Given the description of an element on the screen output the (x, y) to click on. 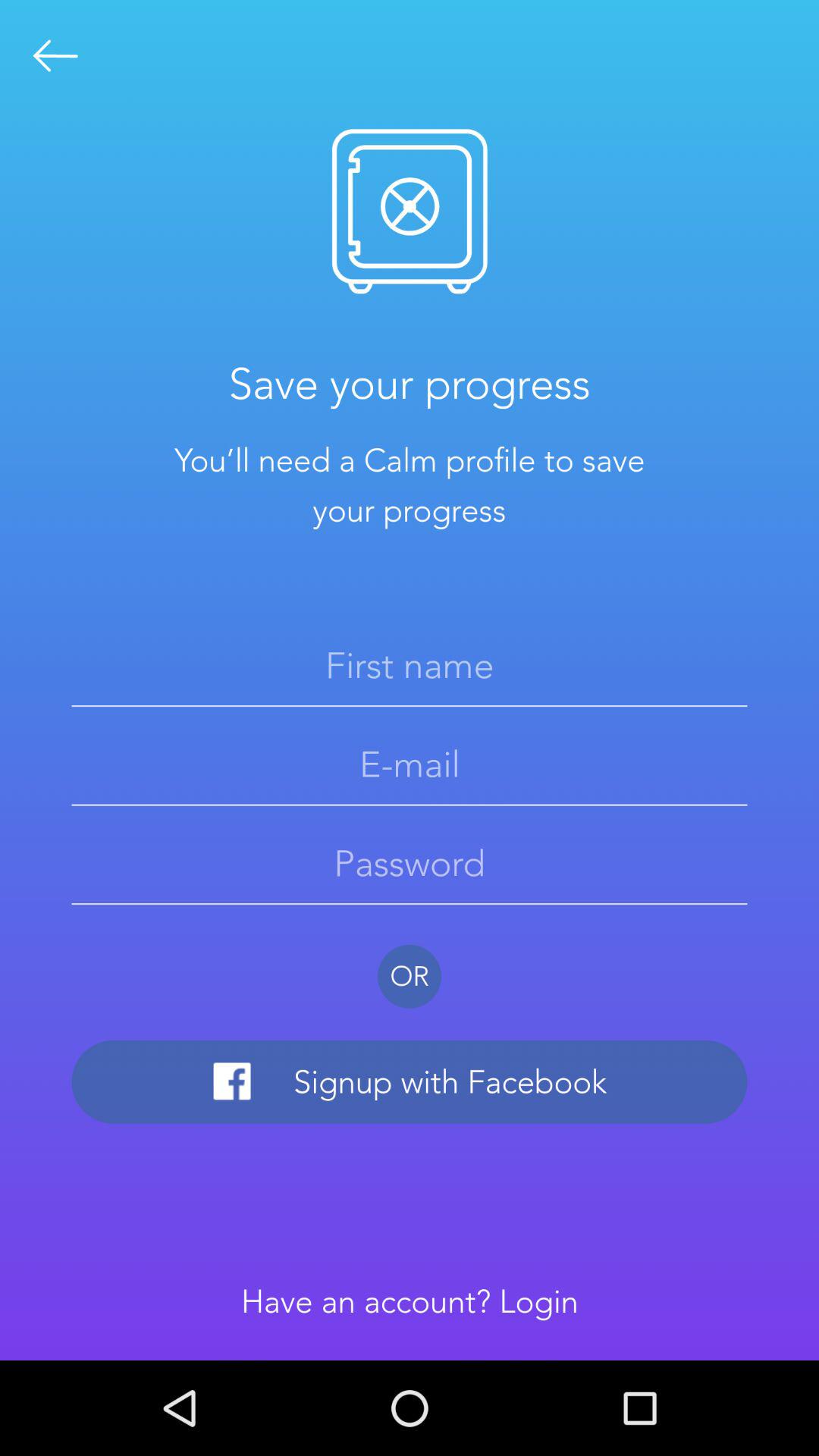
jump to the have an account icon (409, 1301)
